Given the description of an element on the screen output the (x, y) to click on. 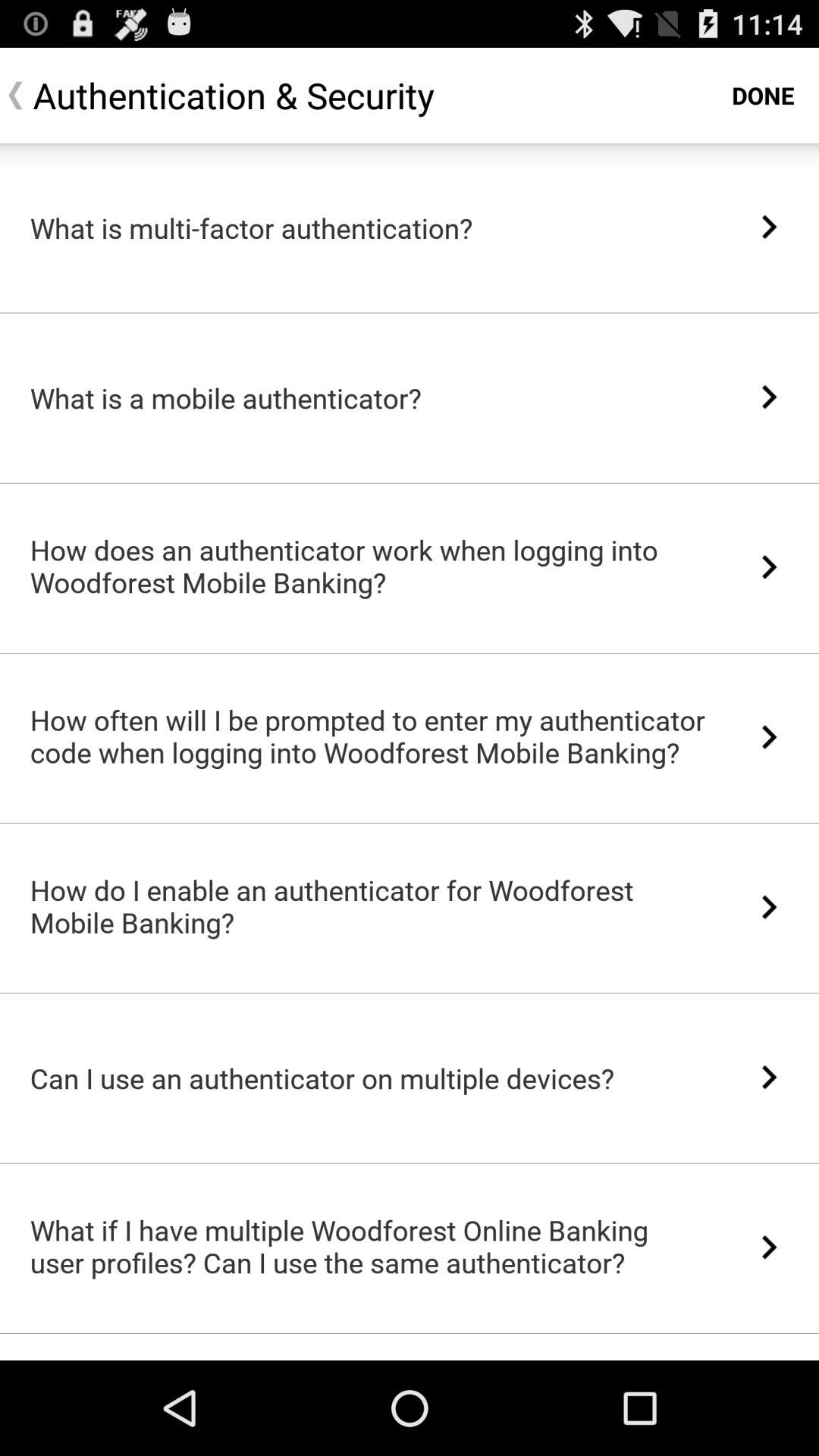
scroll to done (763, 95)
